Given the description of an element on the screen output the (x, y) to click on. 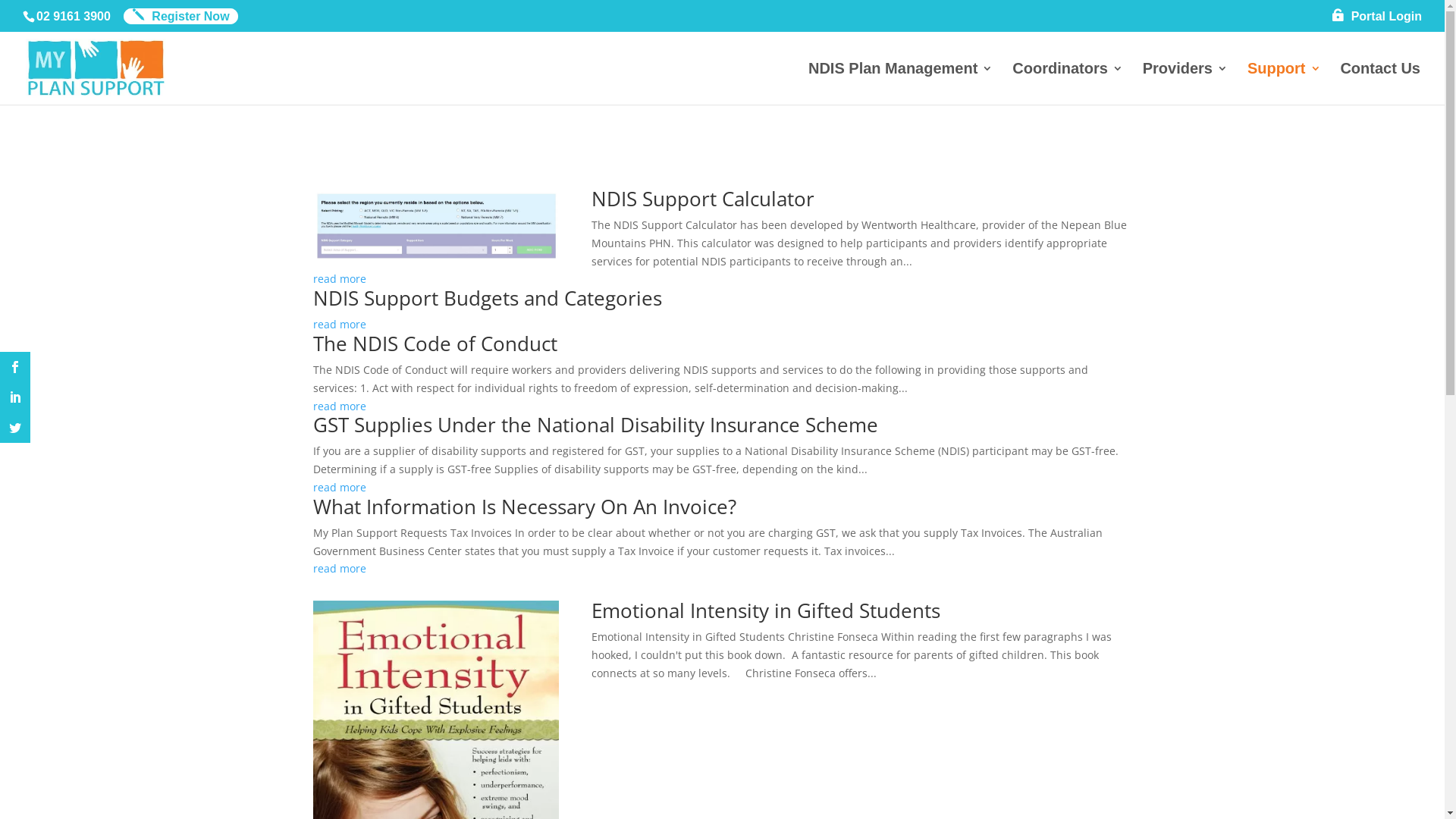
read more Element type: text (721, 487)
Coordinators Element type: text (1067, 83)
NDIS Support Budgets and Categories Element type: text (486, 297)
Providers Element type: text (1184, 83)
read more Element type: text (721, 406)
NDIS Support Calculator Element type: text (702, 198)
Portal Login Element type: text (1376, 20)
What Information Is Necessary On An Invoice? Element type: text (523, 506)
read more Element type: text (721, 324)
Emotional Intensity in Gifted Students Element type: text (765, 610)
Contact Us Element type: text (1379, 83)
read more Element type: text (721, 278)
read more Element type: text (721, 568)
The NDIS Code of Conduct Element type: text (434, 343)
GST Supplies Under the National Disability Insurance Scheme Element type: text (594, 424)
Support Element type: text (1284, 83)
Register Now Element type: text (180, 15)
02 9161 3900 Element type: text (73, 15)
NDIS Plan Management Element type: text (900, 83)
